Given the description of an element on the screen output the (x, y) to click on. 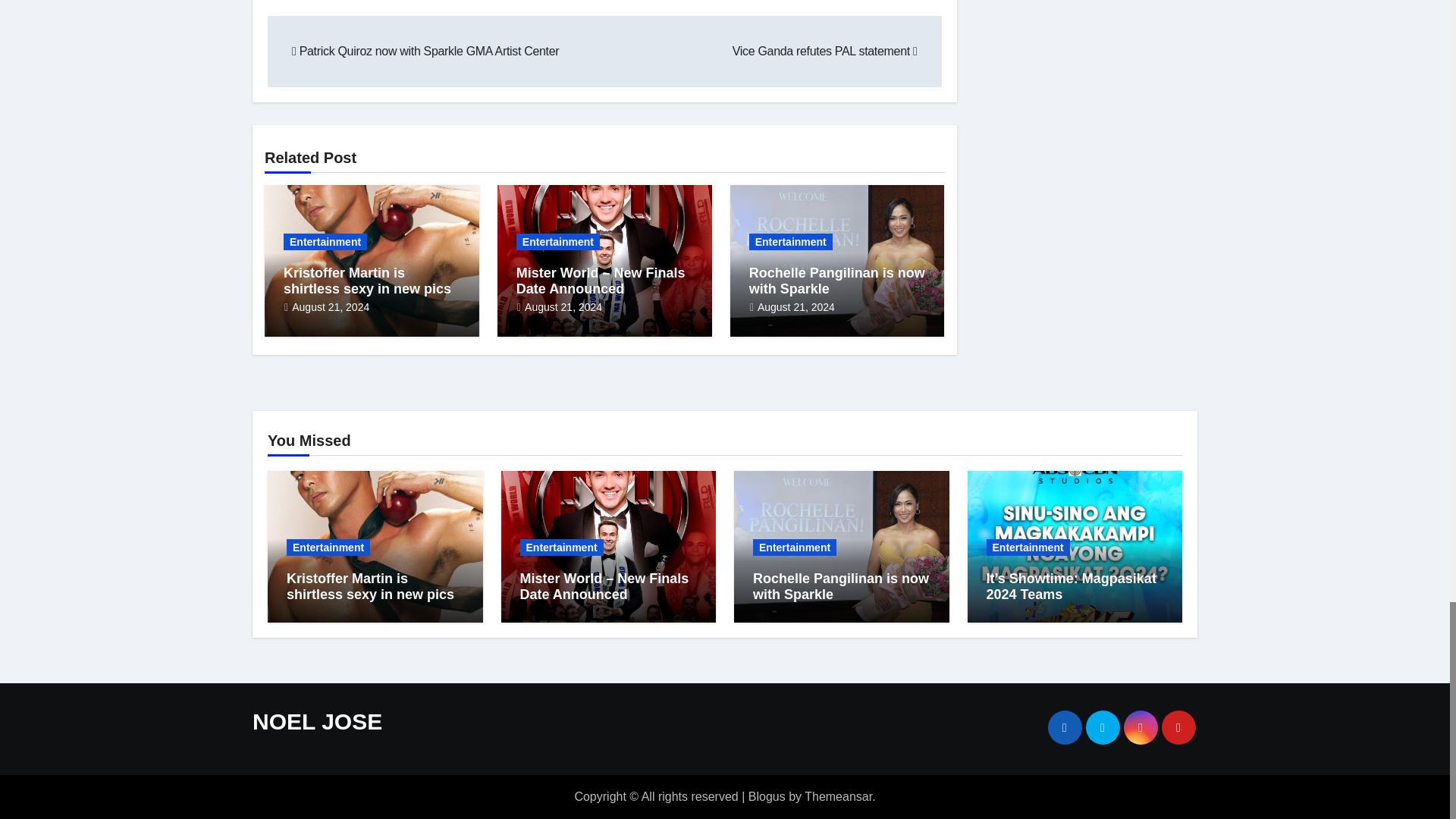
Kristoffer Martin is shirtless sexy in new pics (367, 281)
Permalink to: Rochelle Pangilinan is now with Sparkle (840, 586)
Vice Ganda refutes PAL statement (824, 51)
Patrick Quiroz now with Sparkle GMA Artist Center (425, 51)
Permalink to: Rochelle Pangilinan is now with Sparkle (836, 281)
August 21, 2024 (330, 306)
Entertainment (324, 241)
